Given the description of an element on the screen output the (x, y) to click on. 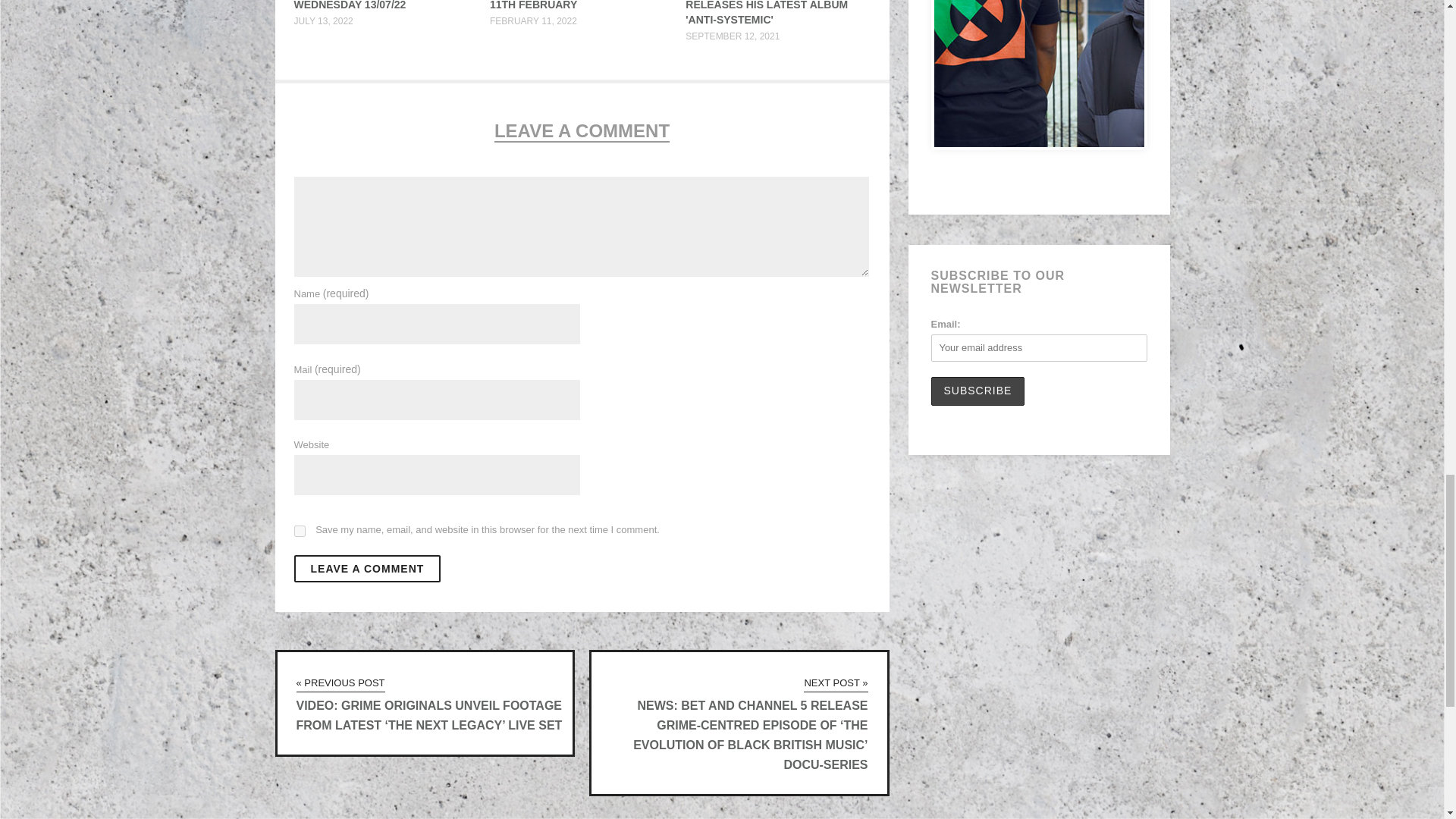
JULY 13, 2022 (323, 20)
Leave a Comment (367, 568)
Subscribe (978, 390)
yes (299, 530)
SEPTEMBER 12, 2021 (731, 36)
FEBRUARY 11, 2022 (532, 20)
Permanent Link to FEATURE: New Music Friday 11th February (569, 5)
FEATURE: NEW MUSIC FRIDAY 11TH FEBRUARY (569, 5)
Leave a Comment (367, 568)
